Given the description of an element on the screen output the (x, y) to click on. 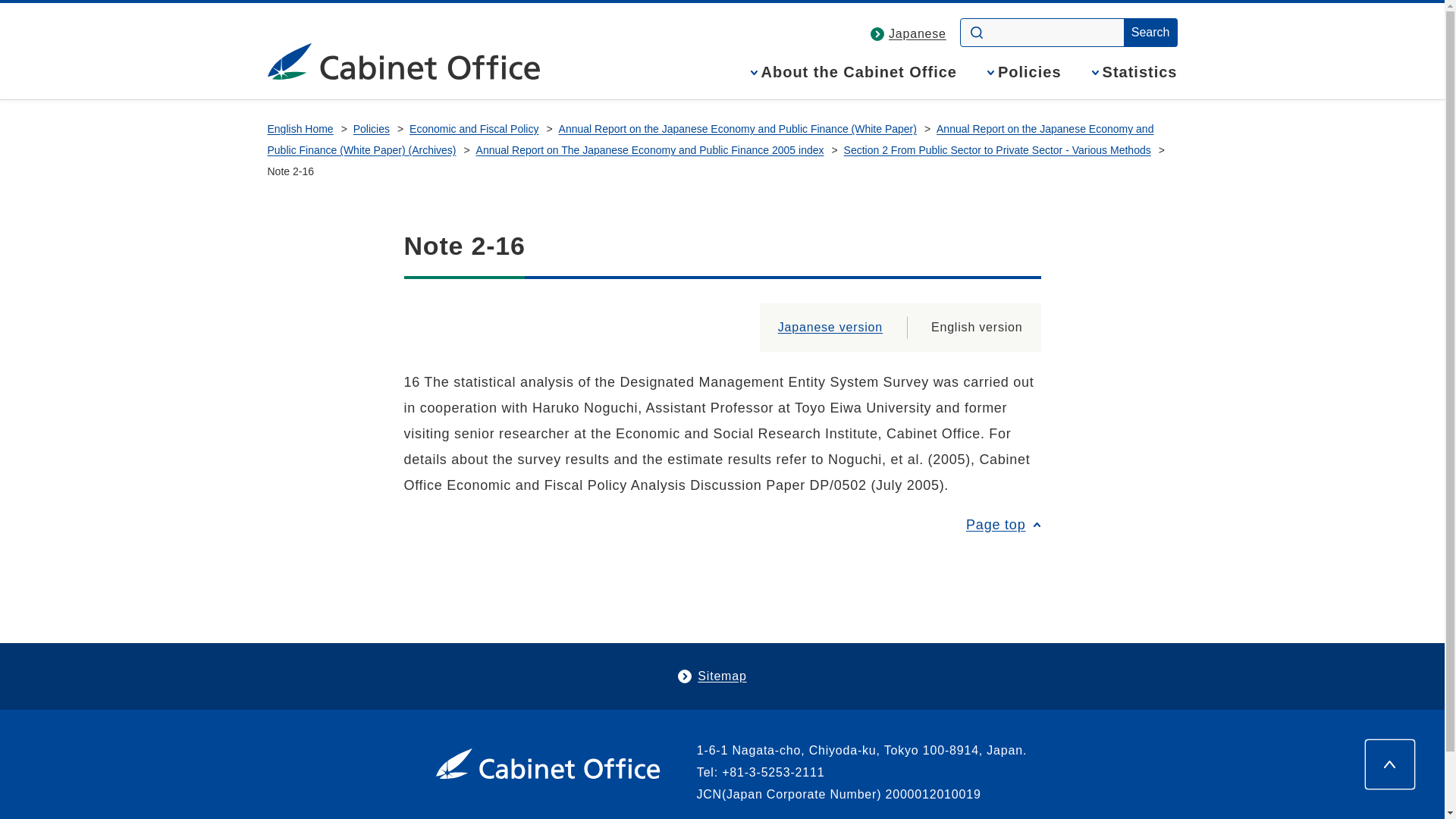
Policies (1024, 81)
Japanese (917, 33)
Search (1150, 32)
Statistics (1134, 81)
search keyword (1042, 32)
Search (1150, 32)
About the Cabinet Office (853, 81)
